Given the description of an element on the screen output the (x, y) to click on. 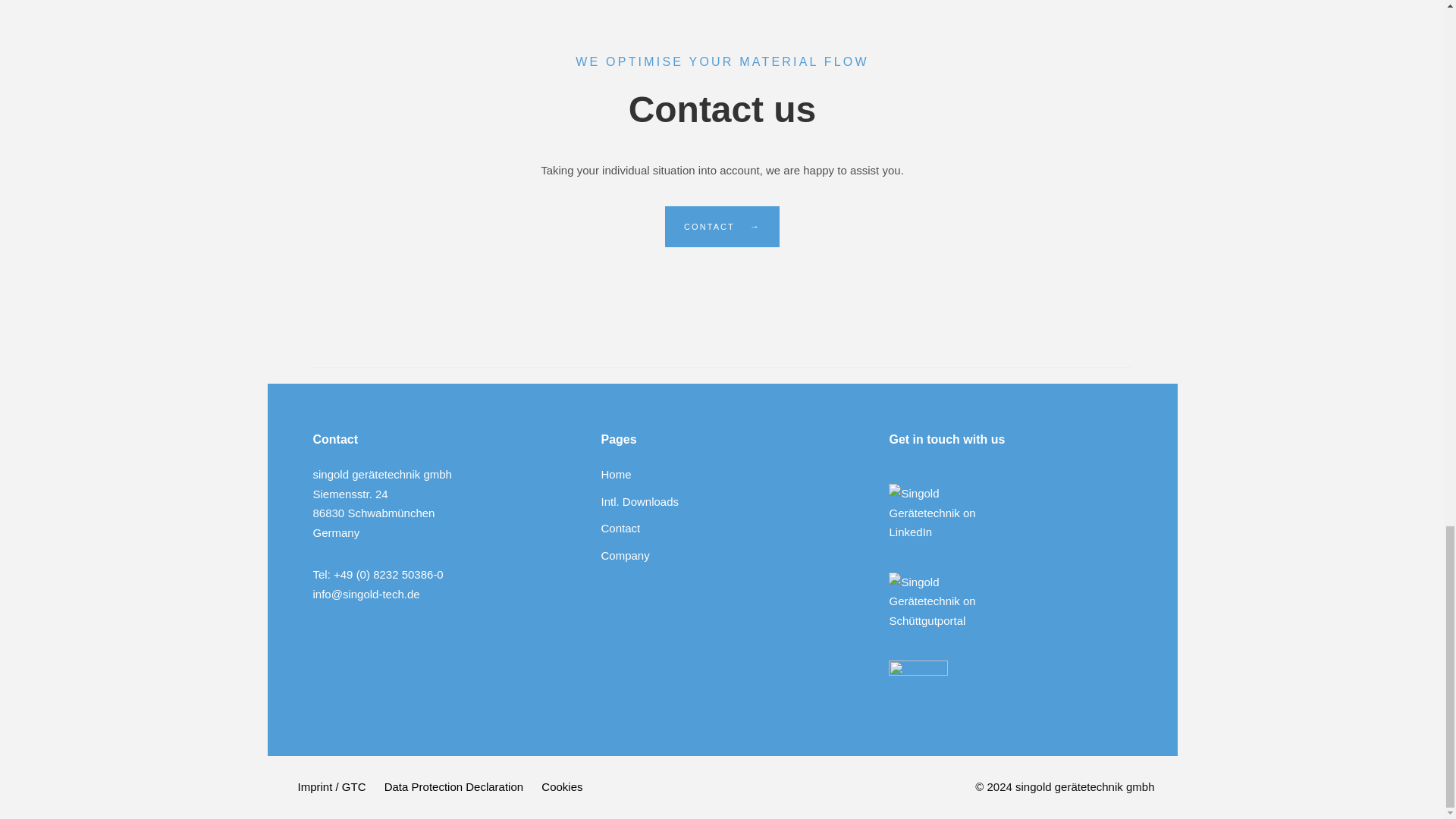
Visit on LinkedIn (945, 473)
Contact (619, 527)
Home (614, 473)
Company (624, 554)
Contact (721, 226)
Intl. Downloads (638, 501)
CONTACT (721, 226)
